Given the description of an element on the screen output the (x, y) to click on. 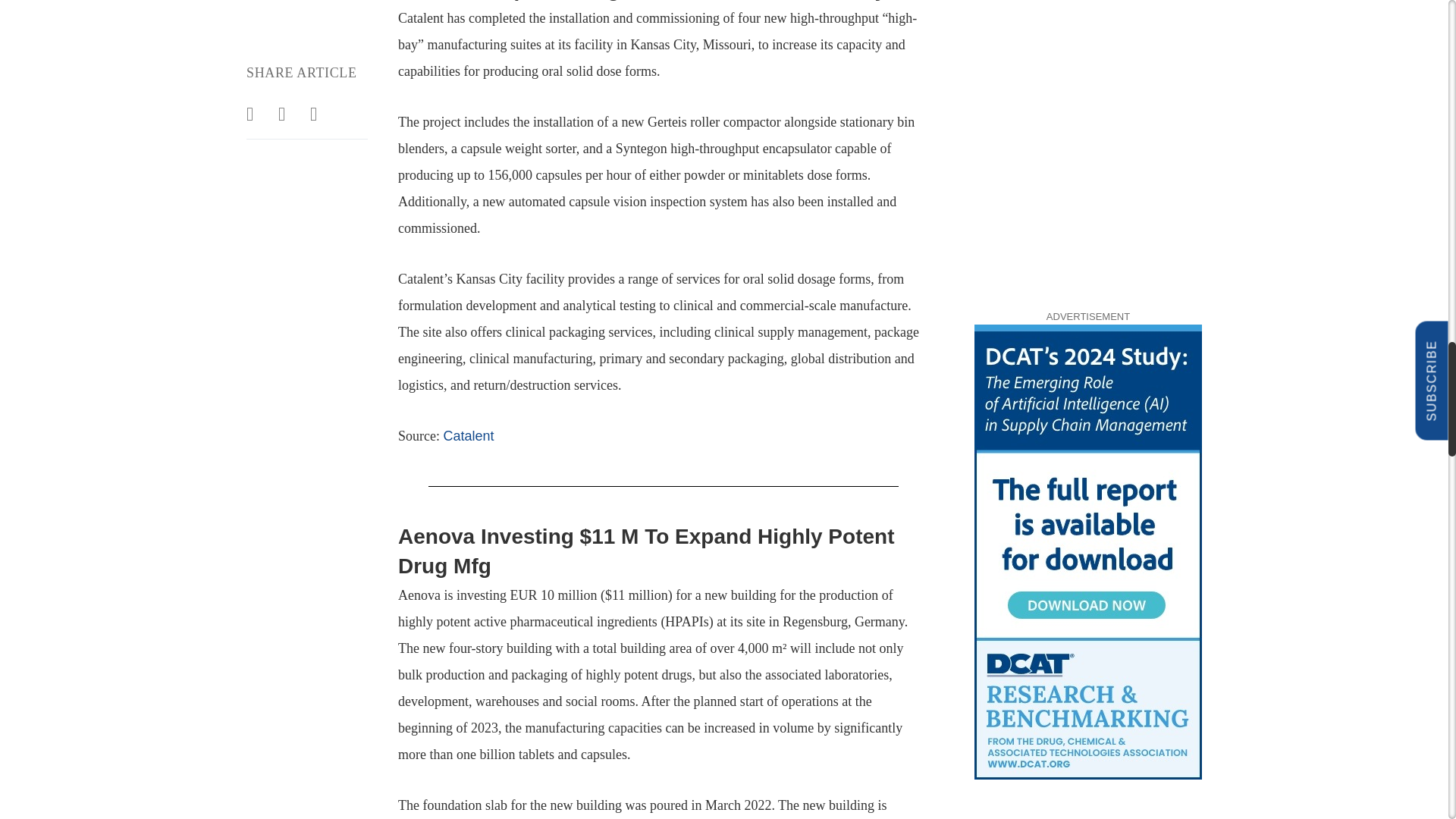
Catalent (467, 435)
